Given the description of an element on the screen output the (x, y) to click on. 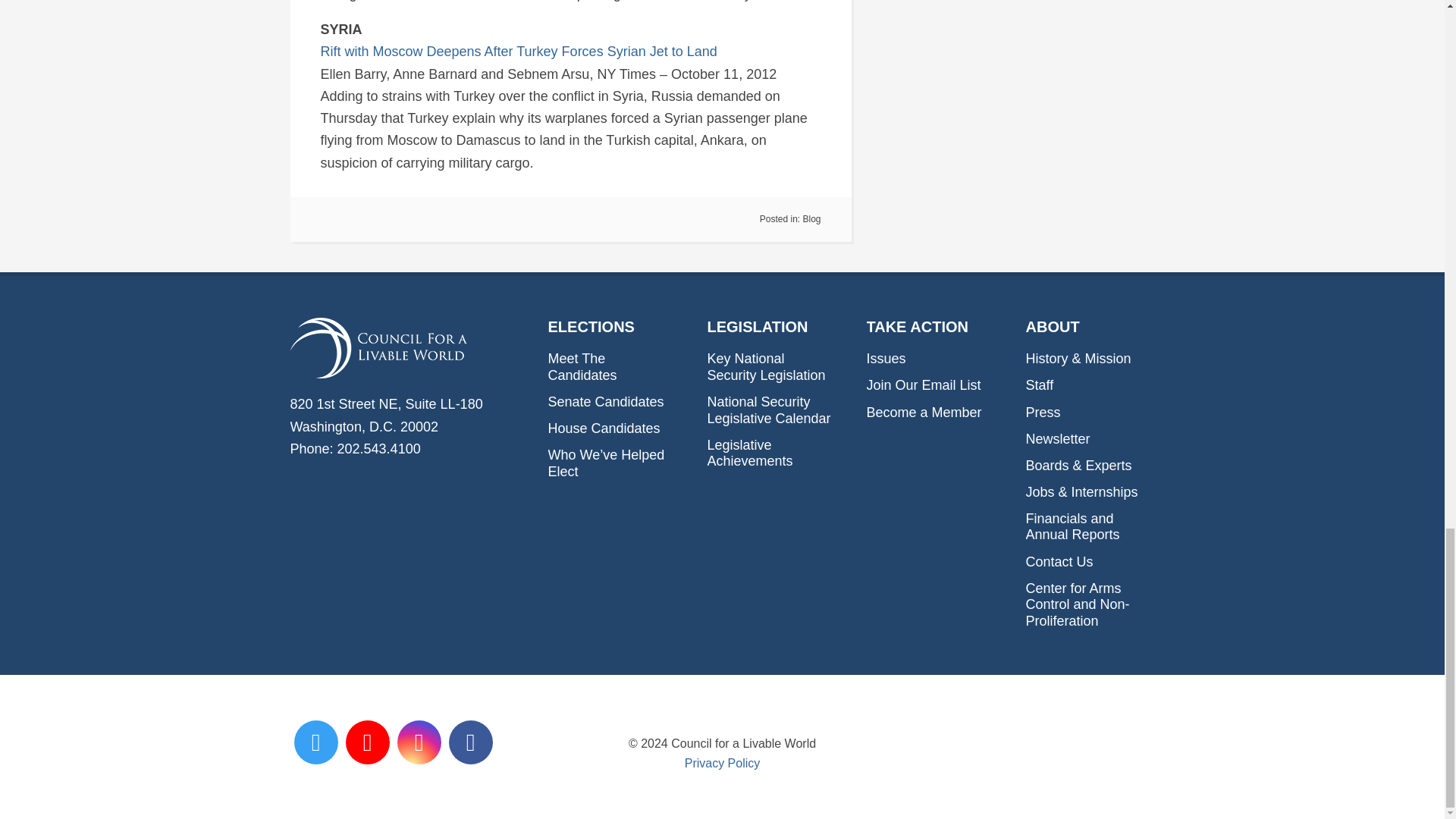
Blog (811, 218)
